Given the description of an element on the screen output the (x, y) to click on. 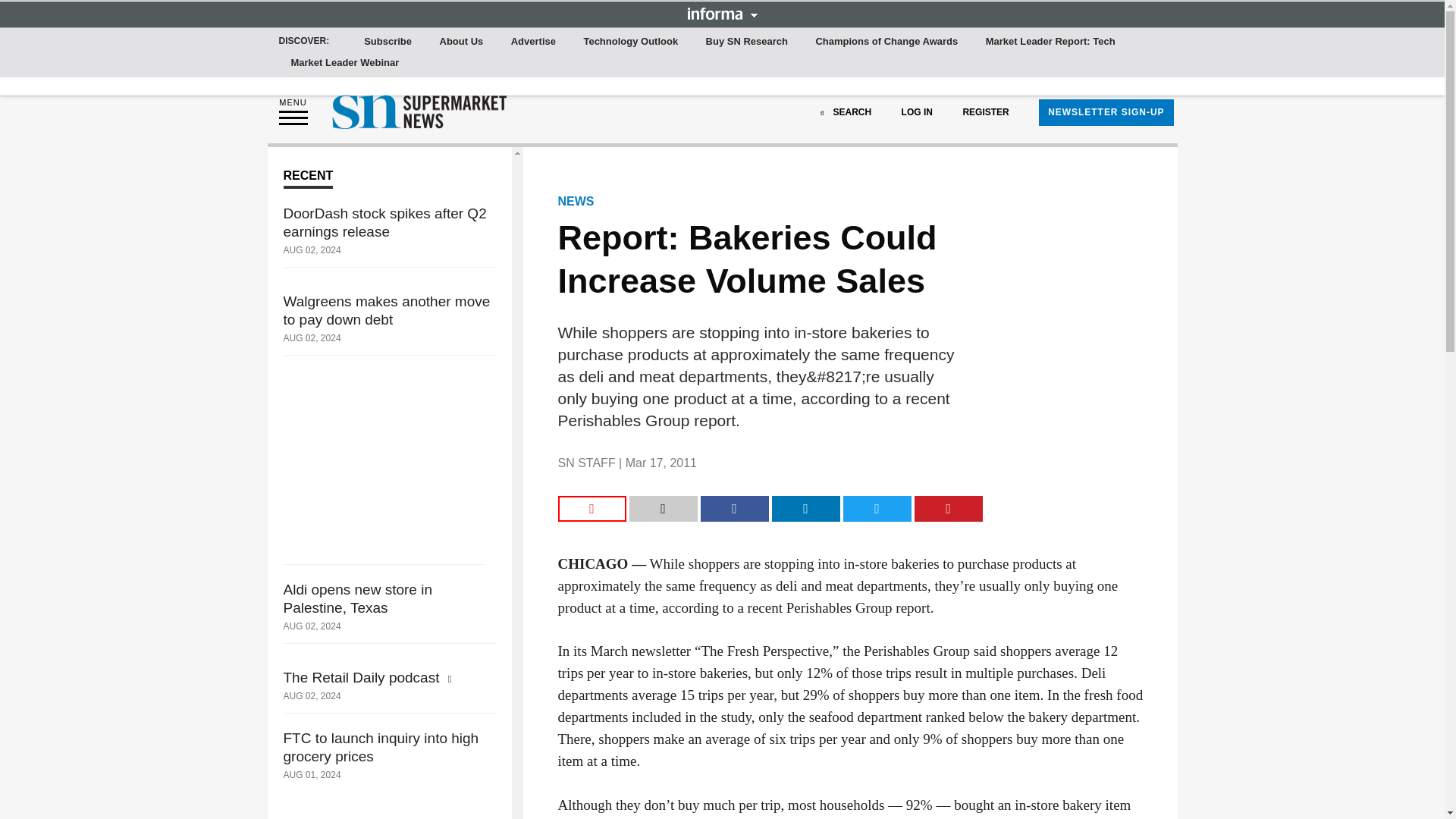
Subscribe (387, 41)
Buy SN Research (746, 41)
About Us (461, 41)
Market Leader Webinar (345, 62)
Market Leader Report: Tech (1050, 41)
INFORMA (722, 13)
Champions of Change Awards (886, 41)
Advertise (533, 41)
Technology Outlook (630, 41)
